Given the description of an element on the screen output the (x, y) to click on. 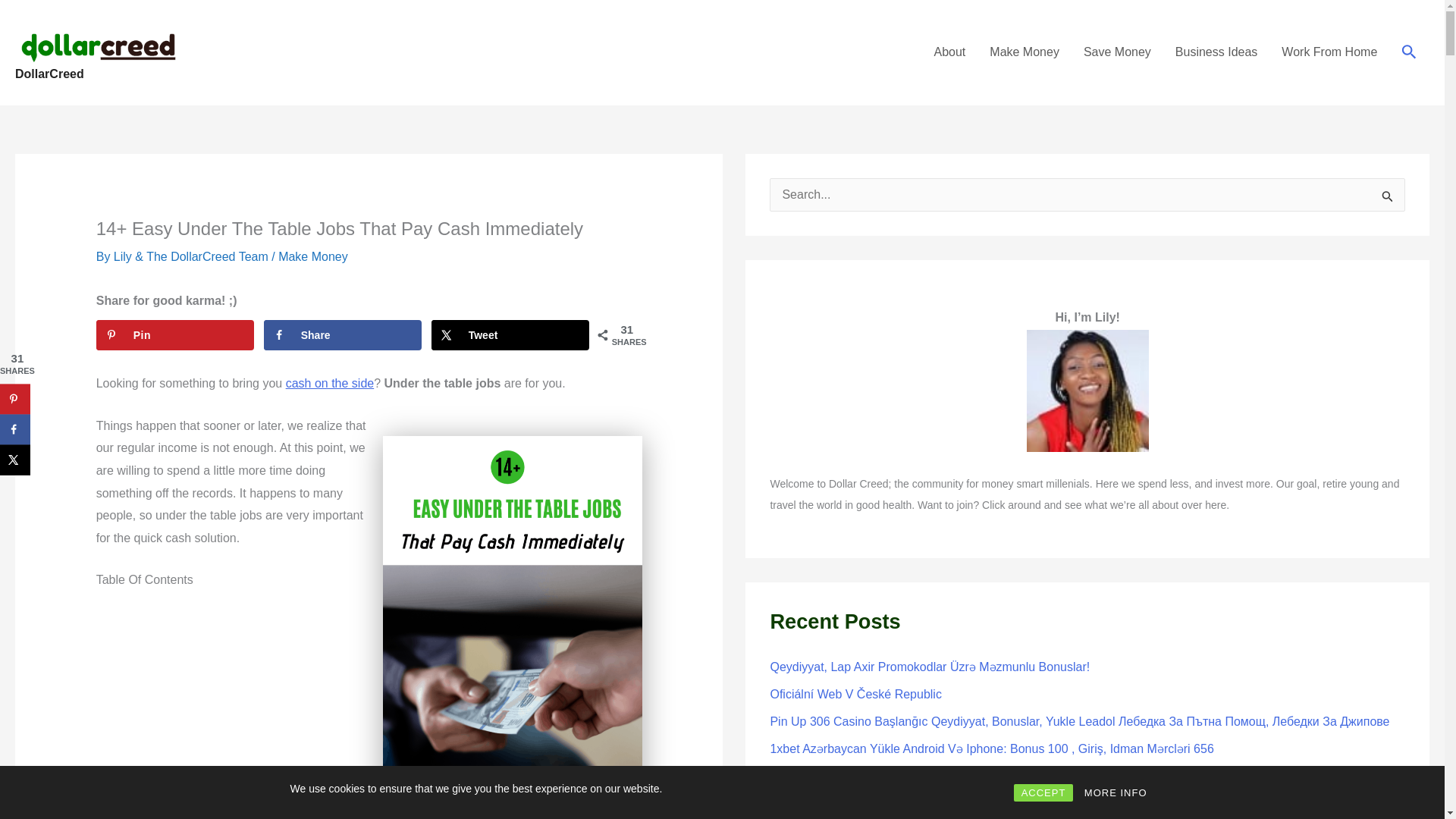
Share (342, 335)
Pin (174, 335)
Tweet (509, 335)
About (948, 51)
Business Ideas (1216, 51)
Make Money (312, 256)
cash on the side (329, 382)
Save Money (1117, 51)
Share on X (509, 335)
DollarCreed (49, 73)
Work From Home (1329, 51)
ACCEPT (1043, 792)
Make Money (1023, 51)
Share on Facebook (342, 335)
MORE INFO (1115, 792)
